Given the description of an element on the screen output the (x, y) to click on. 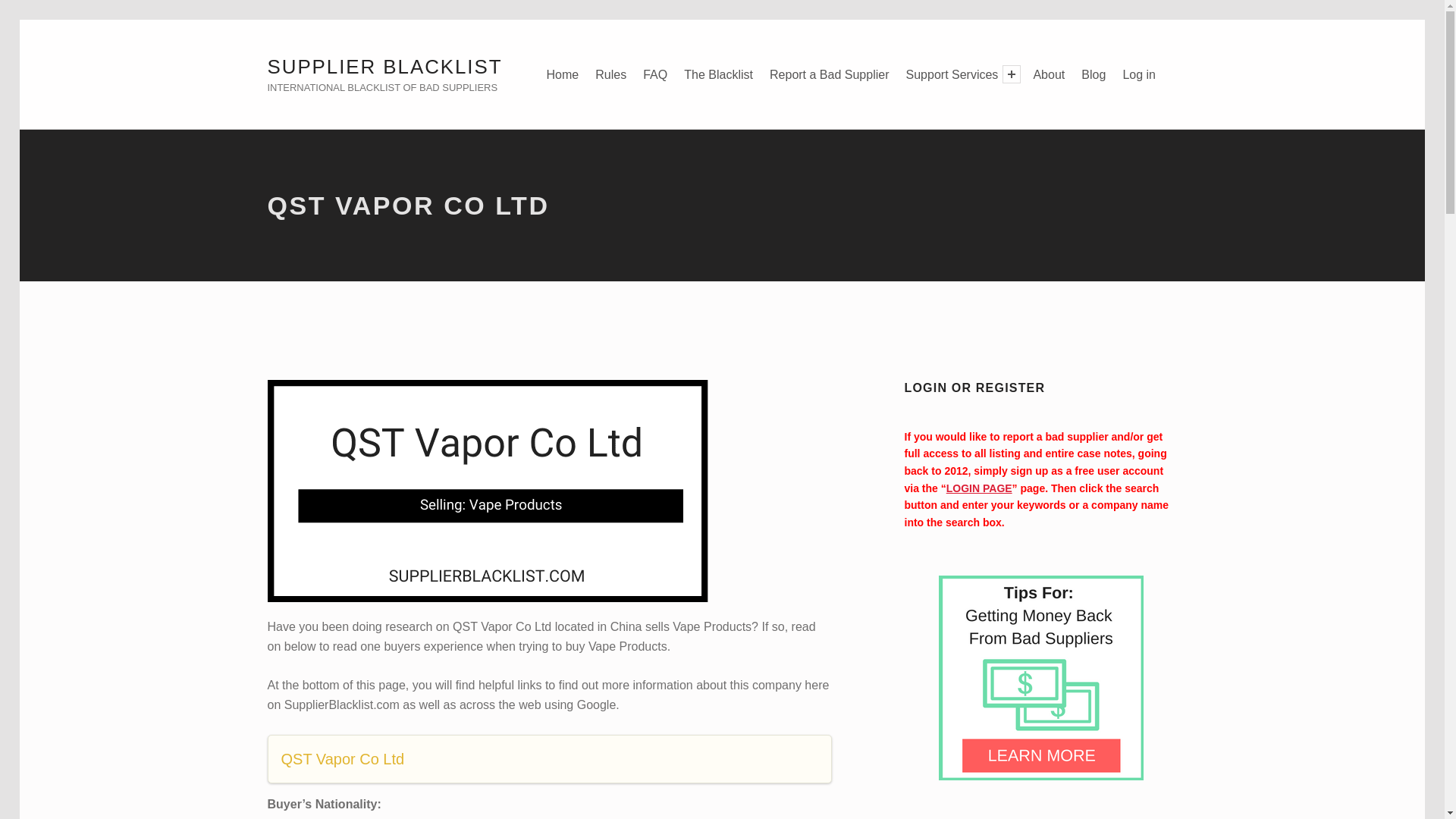
Latest Blog Posts on SBL (1093, 74)
FAQ (655, 74)
SUPPLIER BLACKLIST (384, 66)
Support Services (952, 74)
Home (562, 74)
Rules (610, 74)
Forum Rules (610, 74)
Buyer Support Services (952, 74)
Log in (1139, 74)
Home (562, 74)
